Given the description of an element on the screen output the (x, y) to click on. 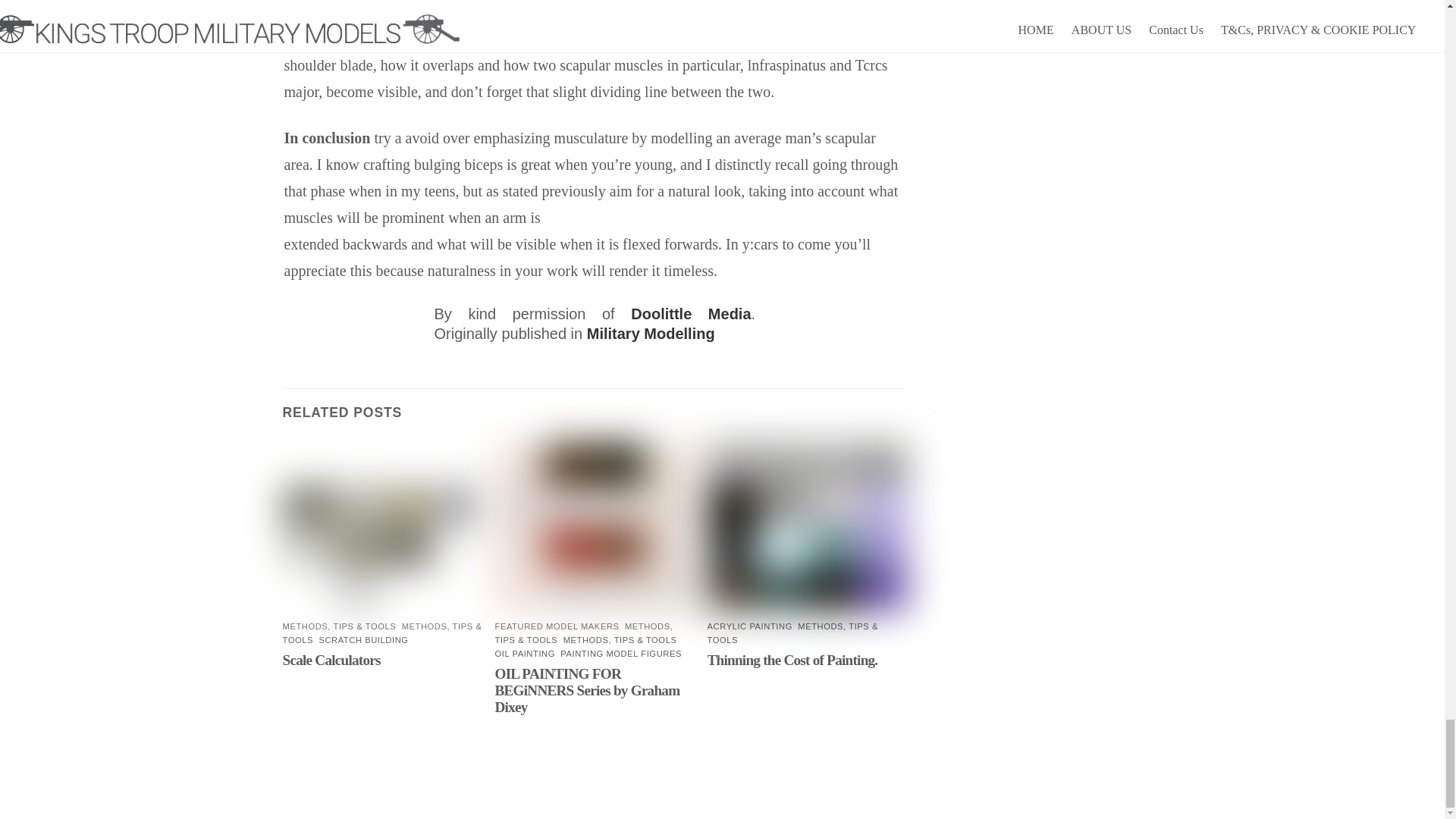
OIL PAINTING FOR BEGiNNERS Series by Graham Dixey (587, 689)
PAINTING MODEL FIGURES (620, 653)
Doolittle Media (690, 313)
SCRATCH BUILDING (362, 639)
Scale Calculators (331, 659)
Military Modelling (650, 333)
FEATURED MODEL MAKERS (557, 625)
OIL PAINTING (524, 653)
Thinning the Cost of Painting. (792, 659)
ACRYLIC PAINTING (749, 625)
Slide1 (381, 526)
